Given the description of an element on the screen output the (x, y) to click on. 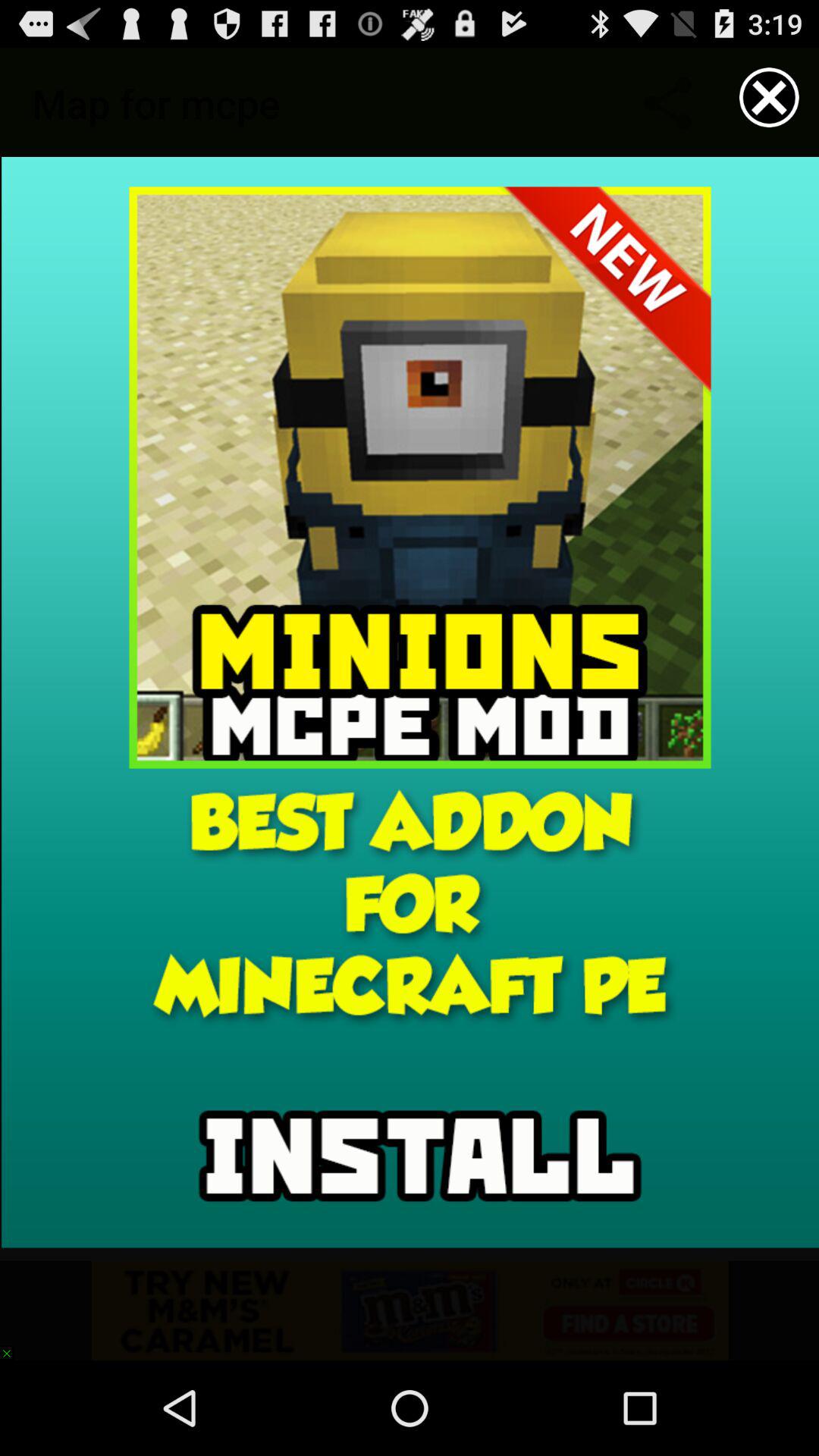
close current page (769, 97)
